Given the description of an element on the screen output the (x, y) to click on. 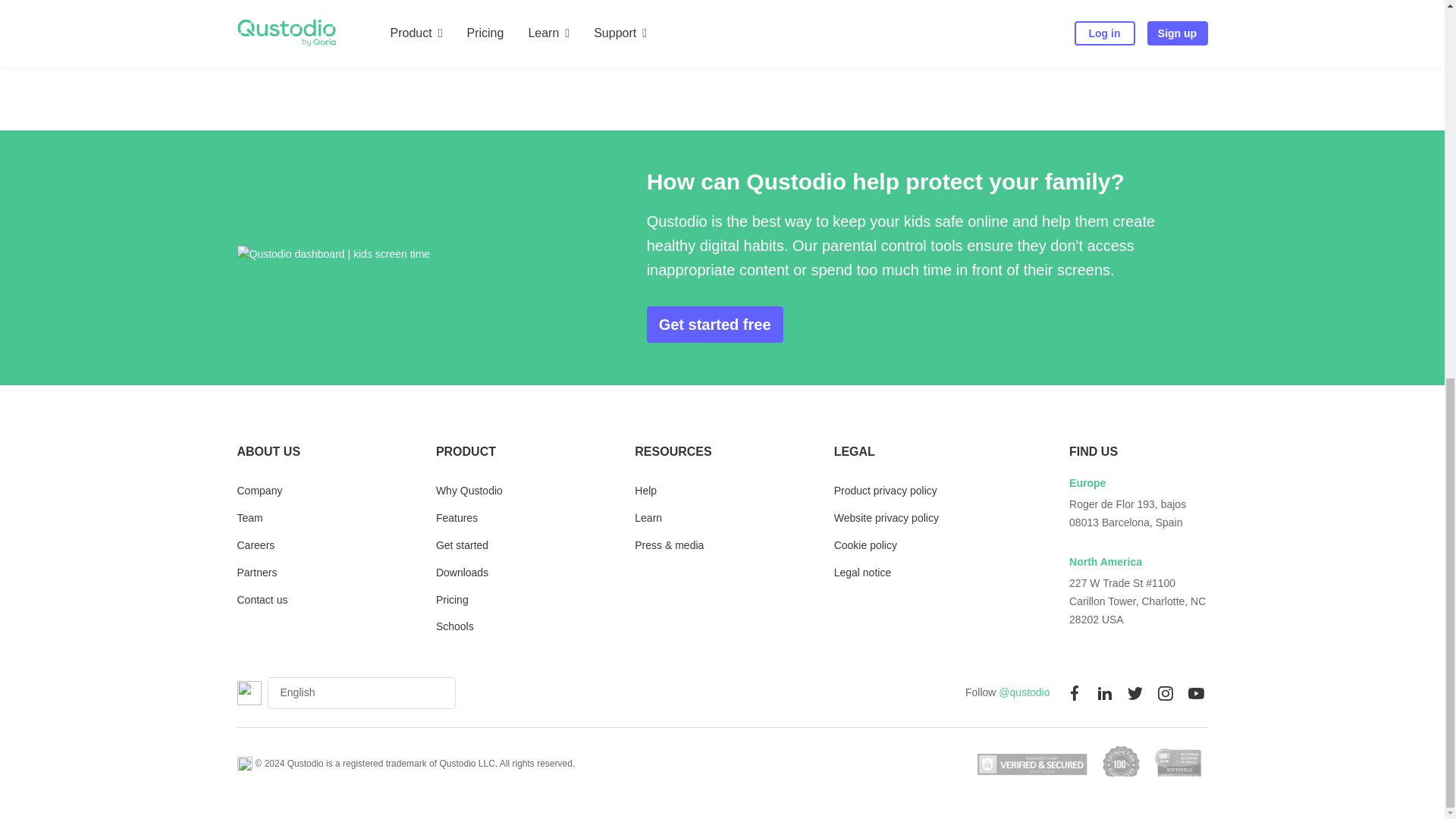
Get started free (714, 324)
LinkedIn (1104, 692)
Team (248, 518)
Partners (255, 573)
Contact us (260, 600)
Careers (255, 545)
Company (258, 491)
Twitter (1134, 692)
Instagram (1164, 692)
Facebook (1073, 692)
